Given the description of an element on the screen output the (x, y) to click on. 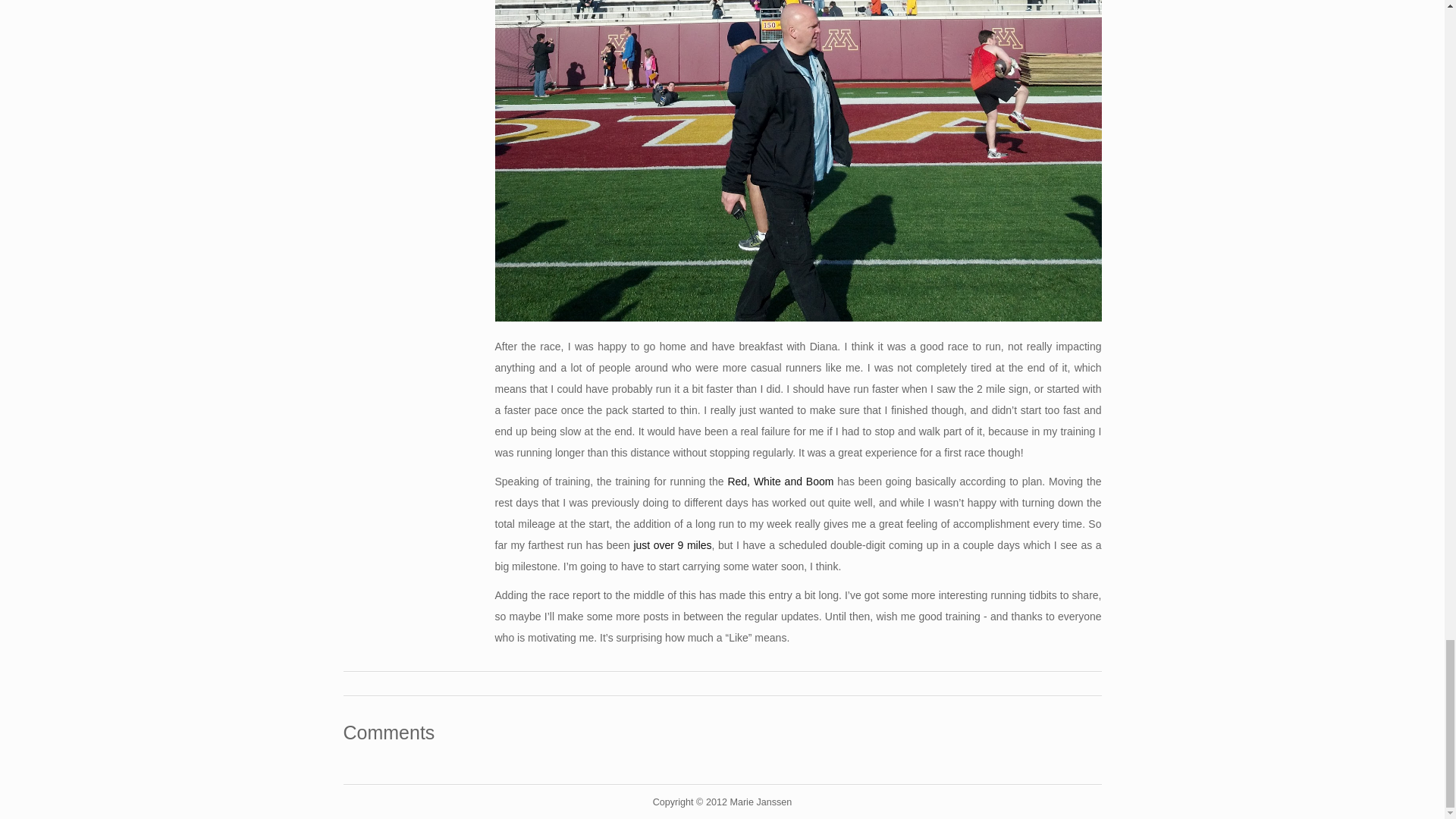
Red, White and Boom (779, 481)
just over 9 miles (672, 544)
